Given the description of an element on the screen output the (x, y) to click on. 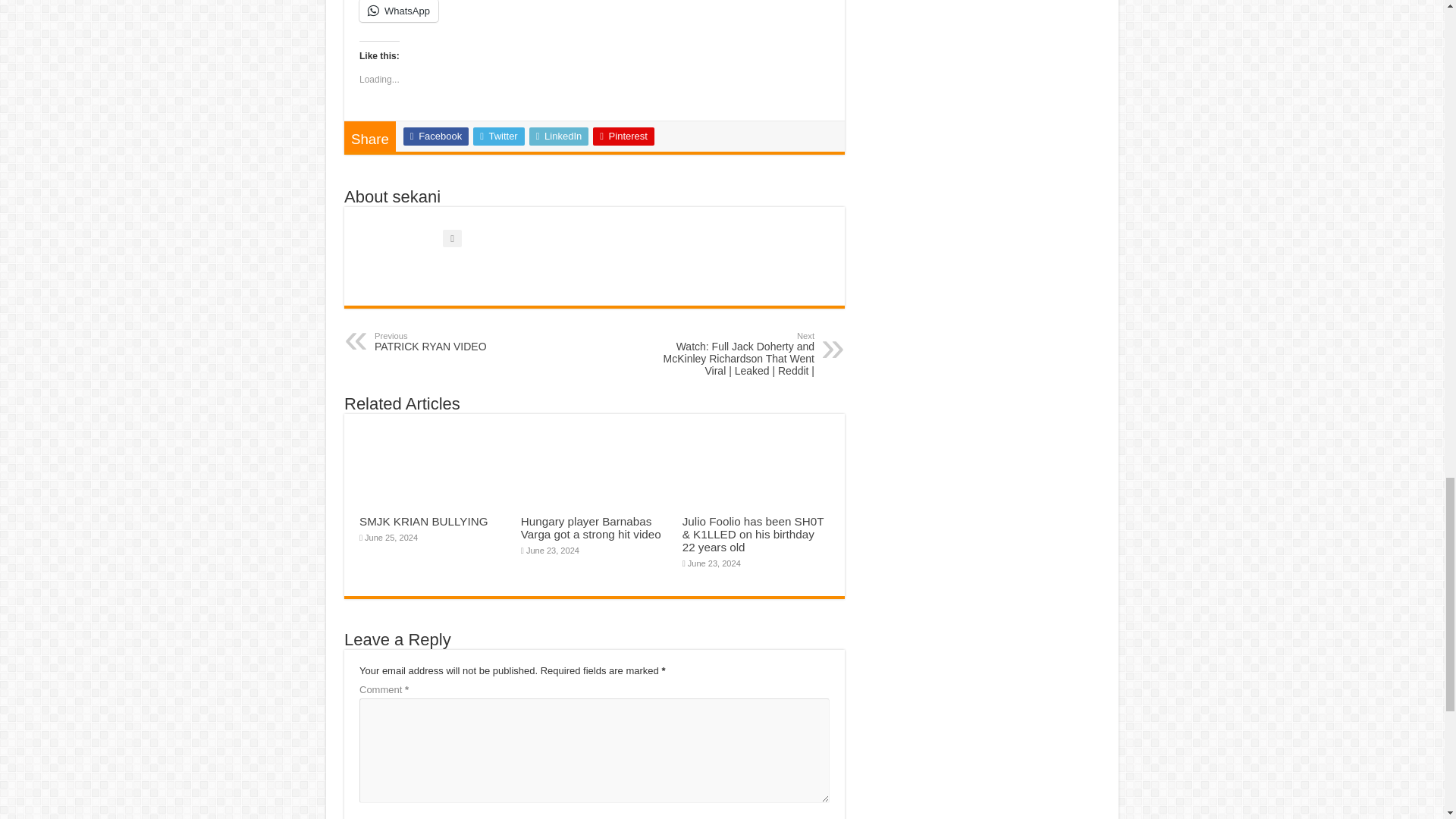
LinkedIn (559, 136)
Facebook (435, 136)
Twitter (498, 136)
WhatsApp (398, 11)
